Given the description of an element on the screen output the (x, y) to click on. 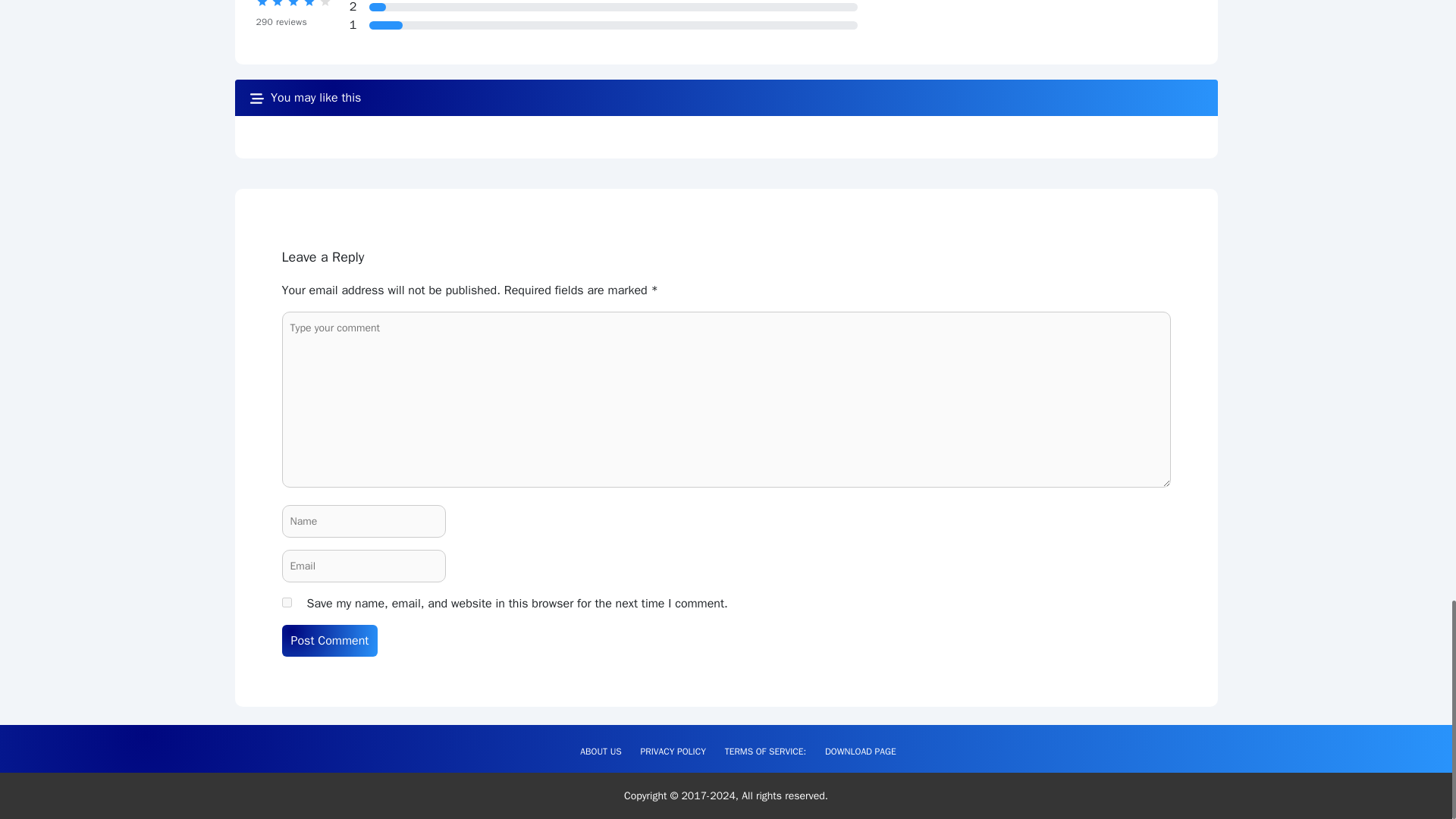
TERMS OF SERVICE: (765, 751)
PRIVACY POLICY (673, 751)
Post Comment (330, 640)
DOWNLOAD PAGE (860, 751)
ABOUT US (600, 751)
10 (377, 7)
Post Comment (330, 640)
yes (287, 602)
